Given the description of an element on the screen output the (x, y) to click on. 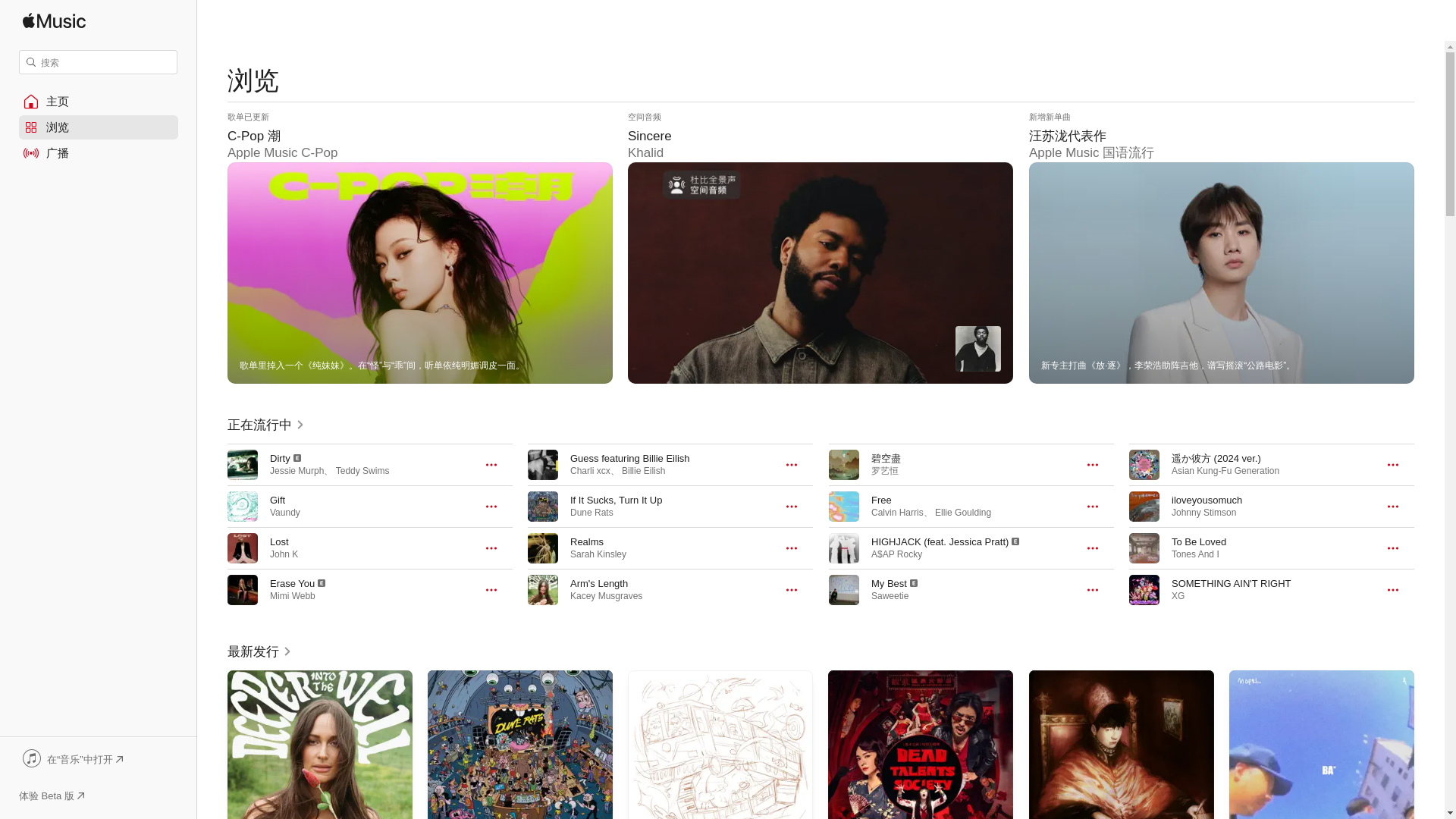
Sincere (820, 247)
Teddy Swims (363, 470)
Lost (278, 541)
Erase You (291, 583)
Dirty (279, 458)
Mimi Webb (292, 595)
Jessie Murph (296, 470)
Vaundy (284, 511)
John K (283, 553)
Gift (277, 500)
